Given the description of an element on the screen output the (x, y) to click on. 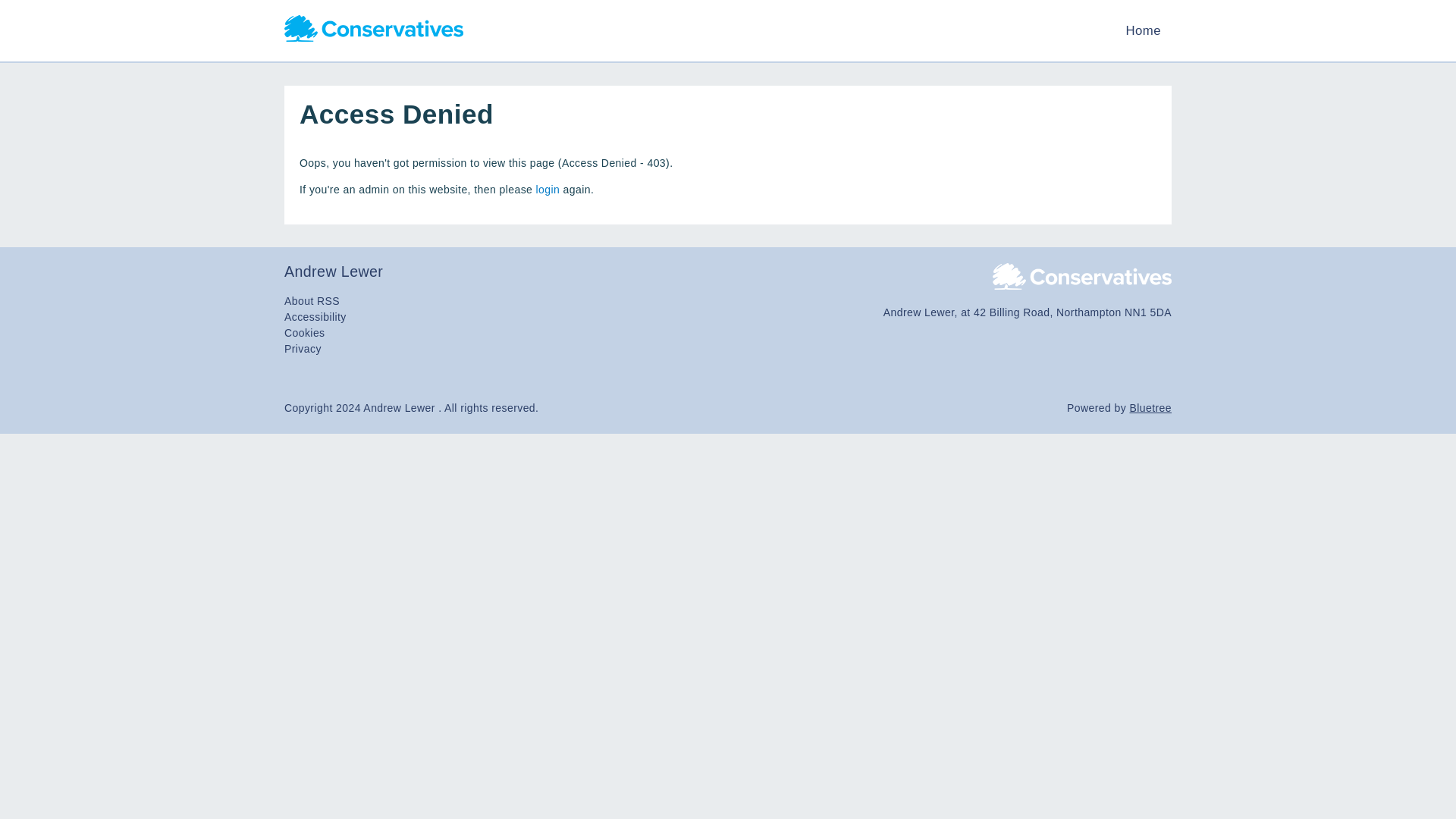
Home (1142, 30)
Accessibility (314, 316)
Bluetree (1150, 408)
login (547, 189)
Privacy (302, 348)
Go to Login page (547, 189)
About RSS (311, 300)
Andrew Lewer (727, 271)
Cookies (303, 332)
